Given the description of an element on the screen output the (x, y) to click on. 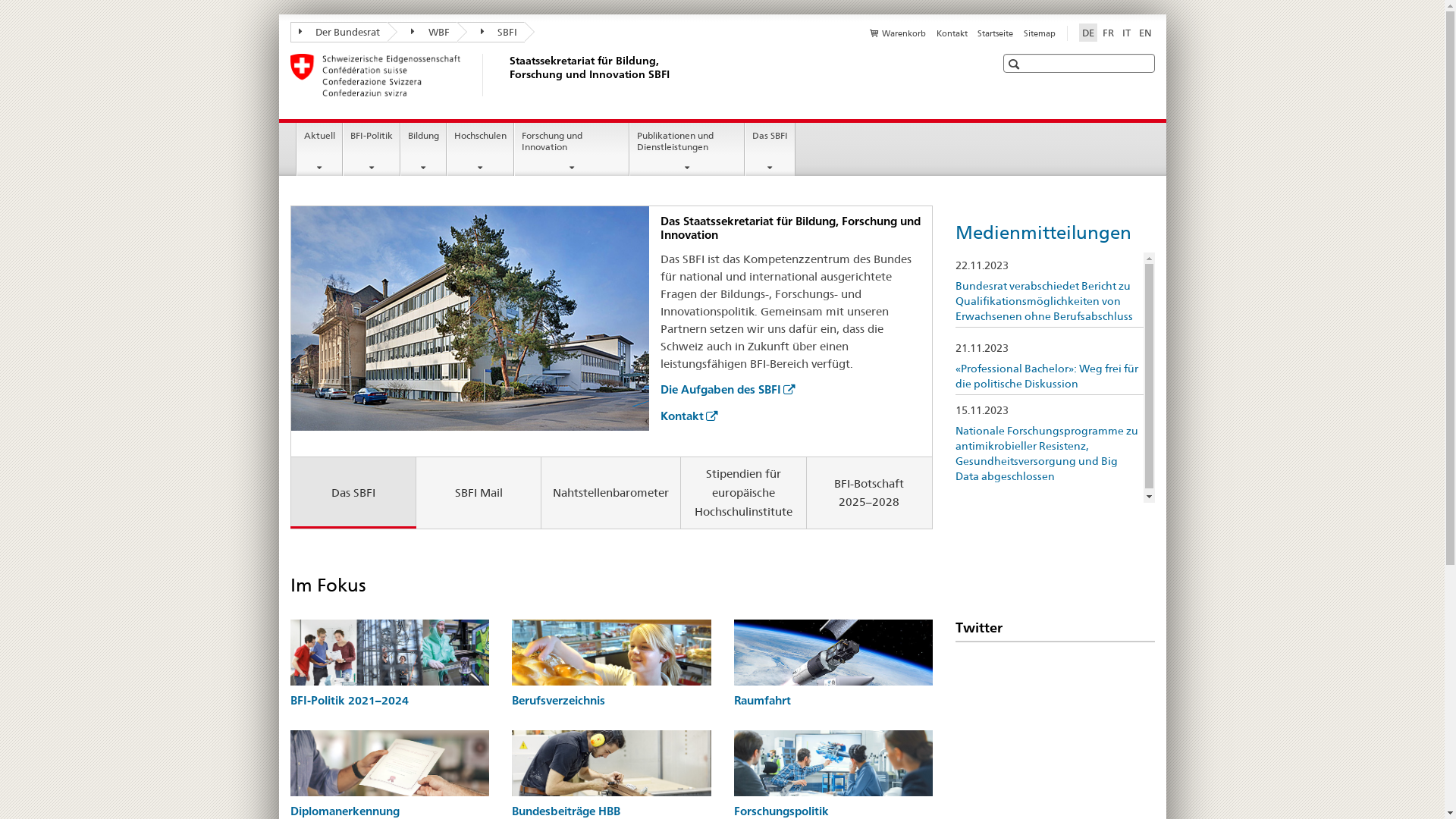
Publikationen und Dienstleistungen Element type: text (686, 148)
Medienmitteilungen Element type: text (1043, 232)
WBF Element type: text (422, 31)
Berufsverzeichnis Element type: text (558, 700)
Sitemap Element type: text (1039, 33)
Bildung Element type: text (423, 148)
Das SBFI Element type: text (769, 148)
Startseite Element type: text (995, 33)
Das SBFI Element type: text (353, 492)
IT Element type: text (1126, 32)
Forschung und Innovation Element type: text (571, 148)
BFI-Politik Element type: text (371, 148)
Warenkorb Element type: text (897, 33)
Forschungspolitik Element type: text (781, 810)
Raumfahrt Element type: text (762, 700)
Kontakt Element type: text (951, 33)
Aktuell Element type: text (319, 148)
FR Element type: text (1108, 32)
SBFI Mail Element type: text (478, 492)
Der Bundesrat Element type: text (338, 31)
EN Element type: text (1144, 32)
SBFI Element type: text (490, 31)
Diplomanerkennung Element type: text (343, 810)
DE Element type: text (1087, 32)
Nahtstellenbarometer Element type: text (610, 492)
Hochschulen Element type: text (480, 148)
